Given the description of an element on the screen output the (x, y) to click on. 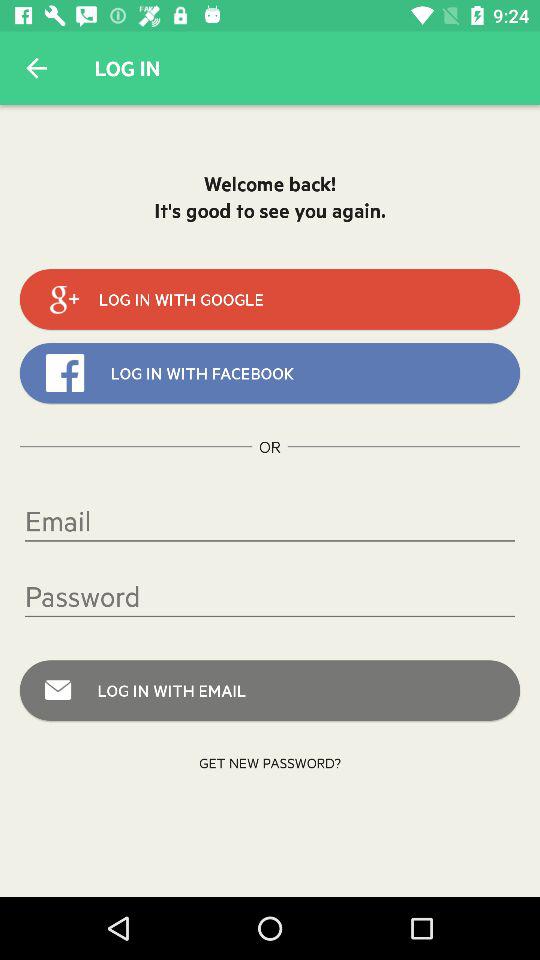
jump until get new password? (270, 762)
